Given the description of an element on the screen output the (x, y) to click on. 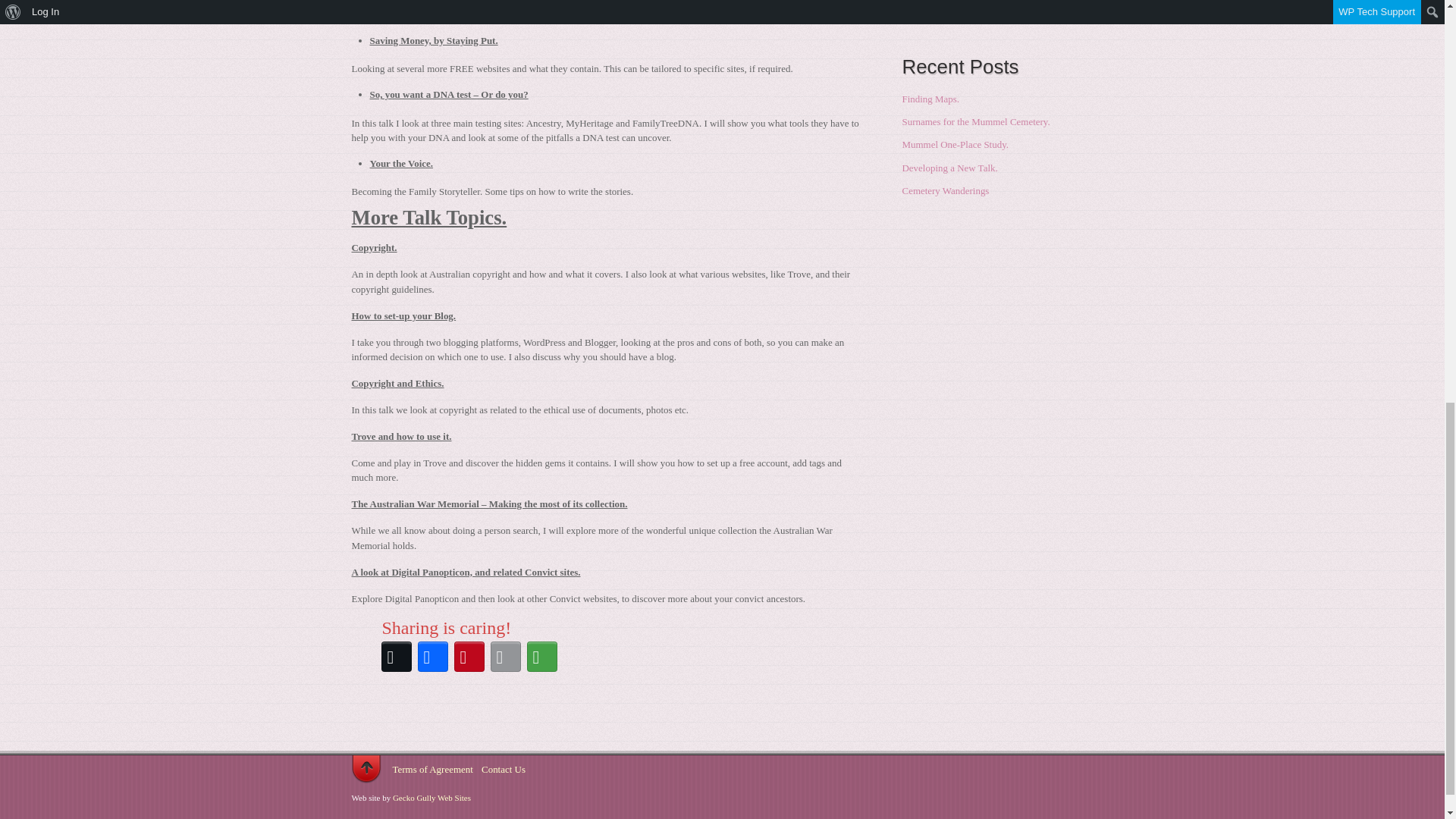
Contact Us (503, 768)
More Options (540, 656)
Email This (504, 656)
Tips (911, 18)
Pinterest (467, 656)
Terms of Agreement (433, 768)
Mummel One-Place Study. (955, 143)
Surnames for the Mummel Cemetery. (975, 121)
Developing a New Talk. (949, 167)
Finding Maps. (930, 98)
Gecko Gully Web Sites (431, 797)
Facebook (431, 656)
Cemetery Wanderings (946, 190)
Mummel One Place Study (954, 0)
